Given the description of an element on the screen output the (x, y) to click on. 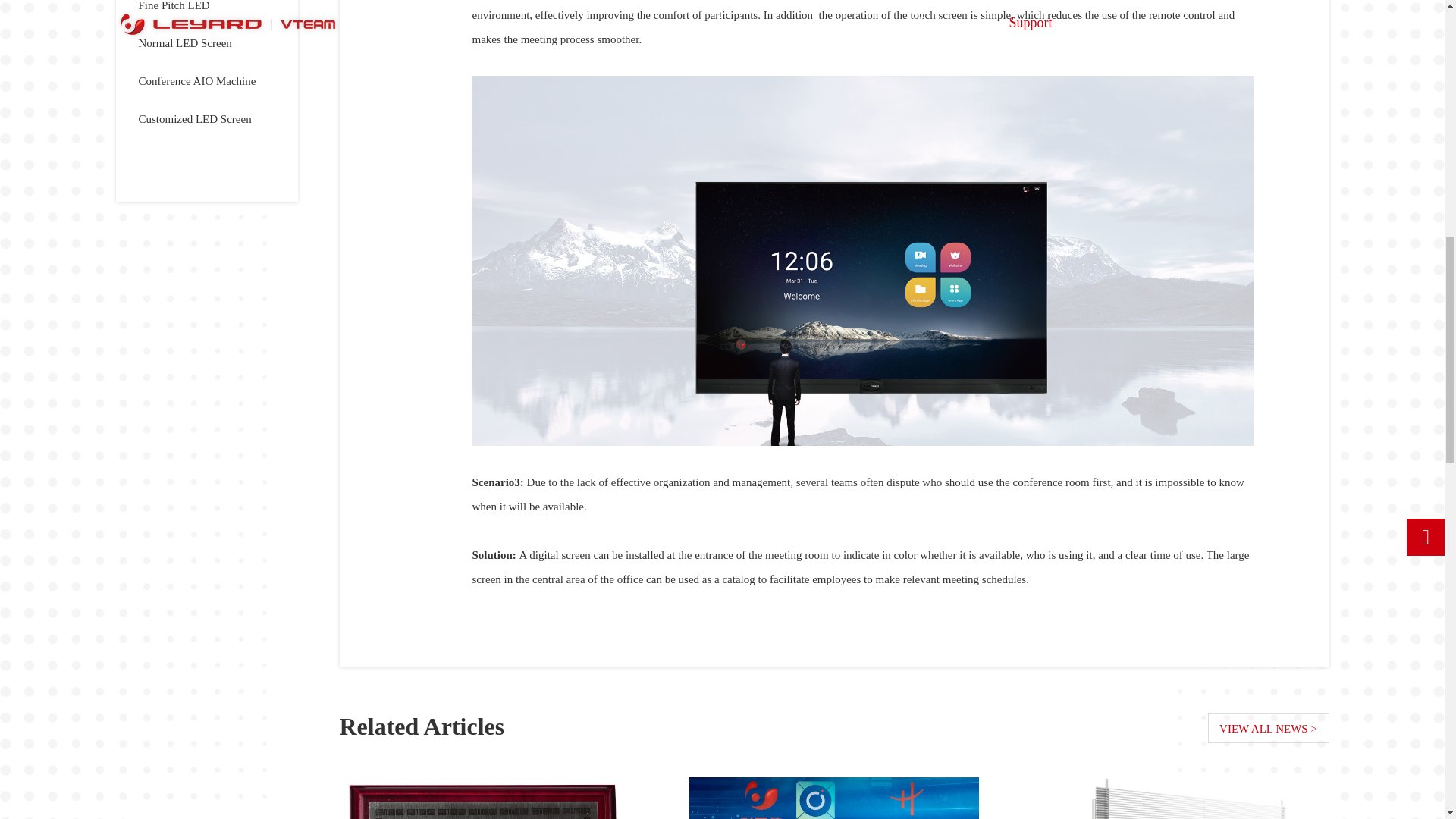
Leyard Won the "China Patent Excellence" Award (483, 798)
